Given the description of an element on the screen output the (x, y) to click on. 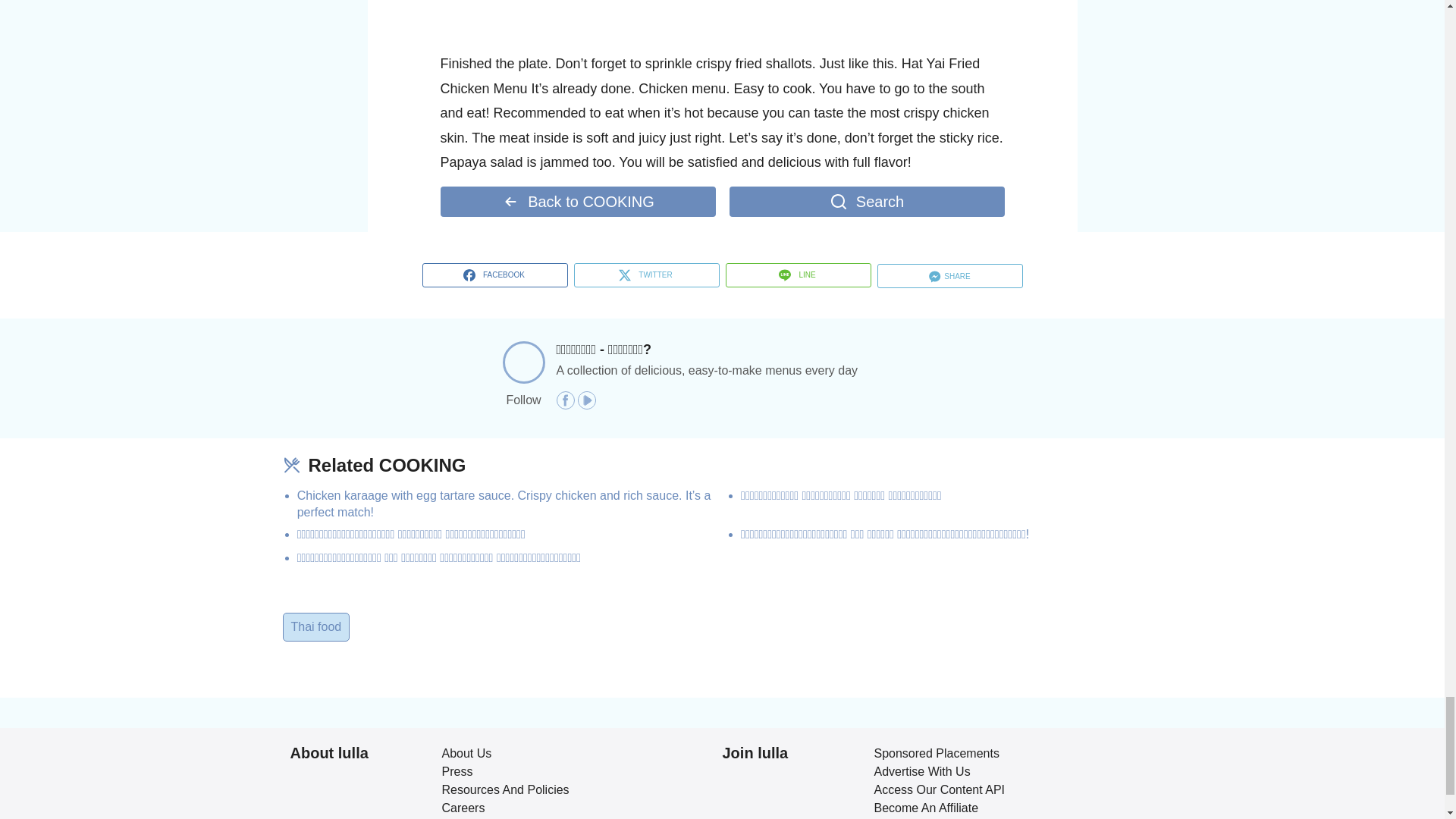
FACEBOOK (494, 274)
Search (866, 201)
Careers (462, 807)
About Us (466, 753)
Back to COOKING (576, 201)
Press (456, 771)
Sponsored Placements (935, 753)
LINE (797, 274)
TWITTER (646, 274)
SHARE (949, 276)
